Given the description of an element on the screen output the (x, y) to click on. 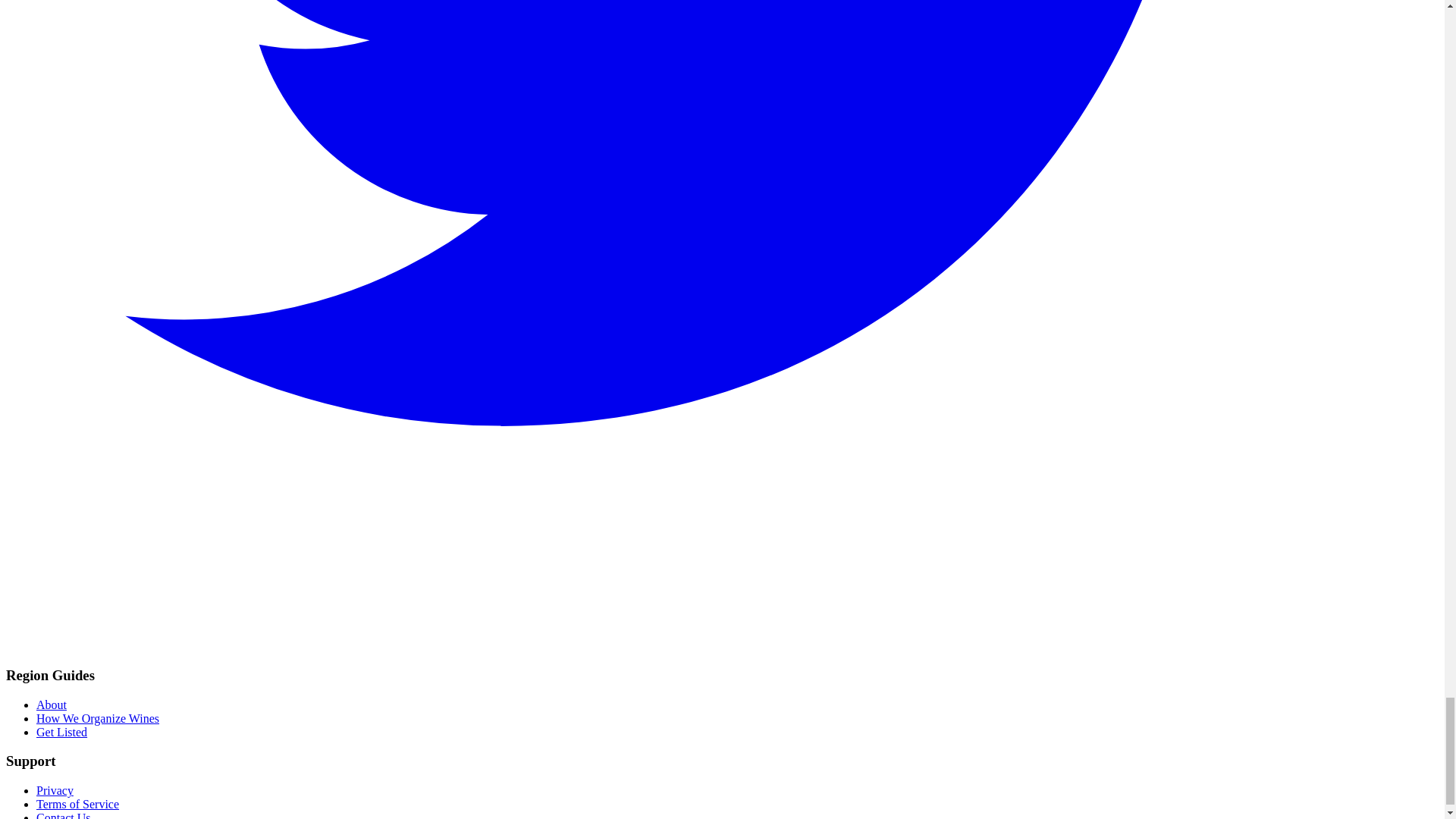
Get Listed (61, 731)
Privacy (55, 789)
How We Organize Wines (97, 717)
Terms of Service (77, 803)
About (51, 704)
